Given the description of an element on the screen output the (x, y) to click on. 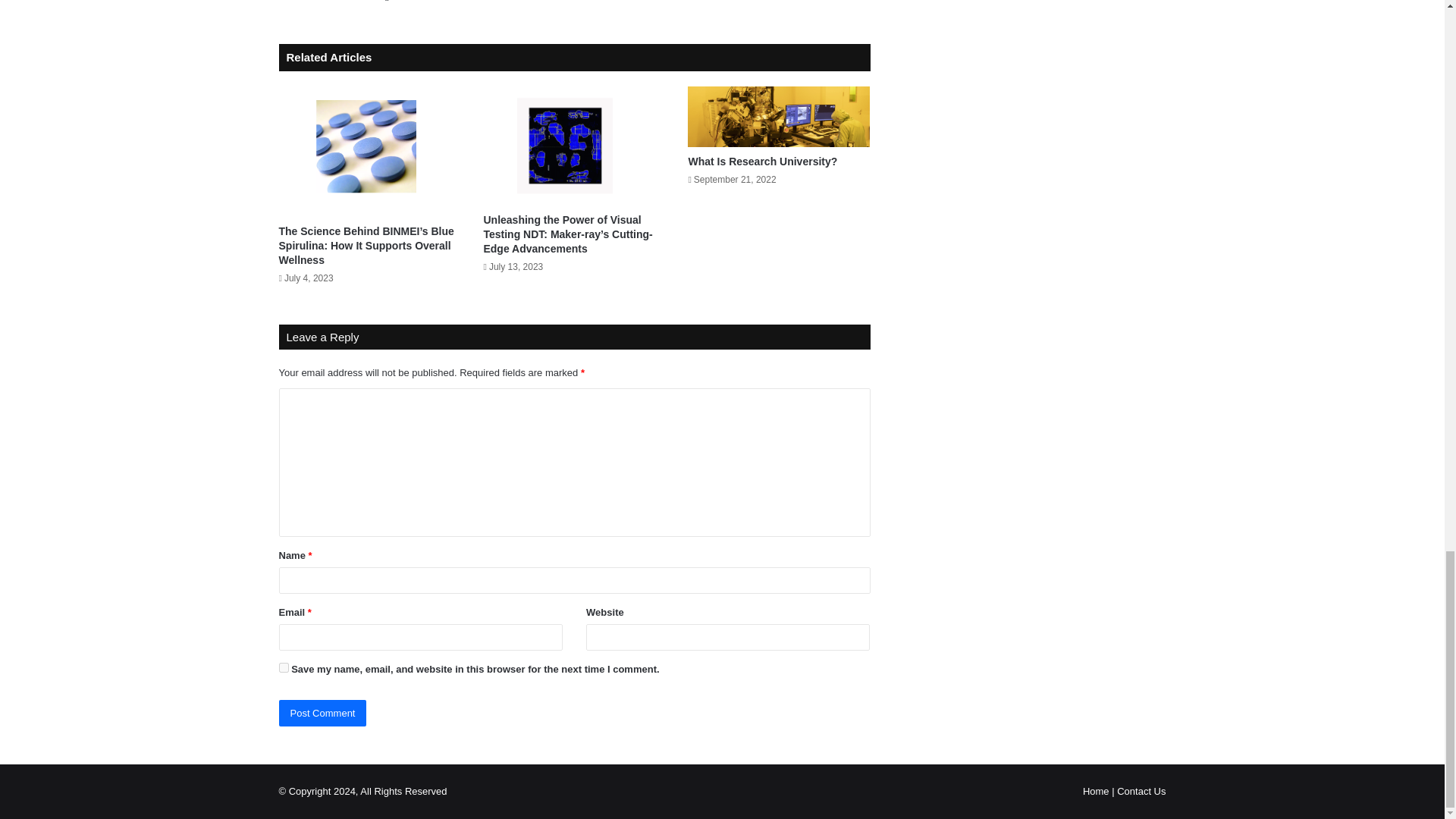
Website (386, 2)
Post Comment (322, 713)
yes (283, 667)
